Given the description of an element on the screen output the (x, y) to click on. 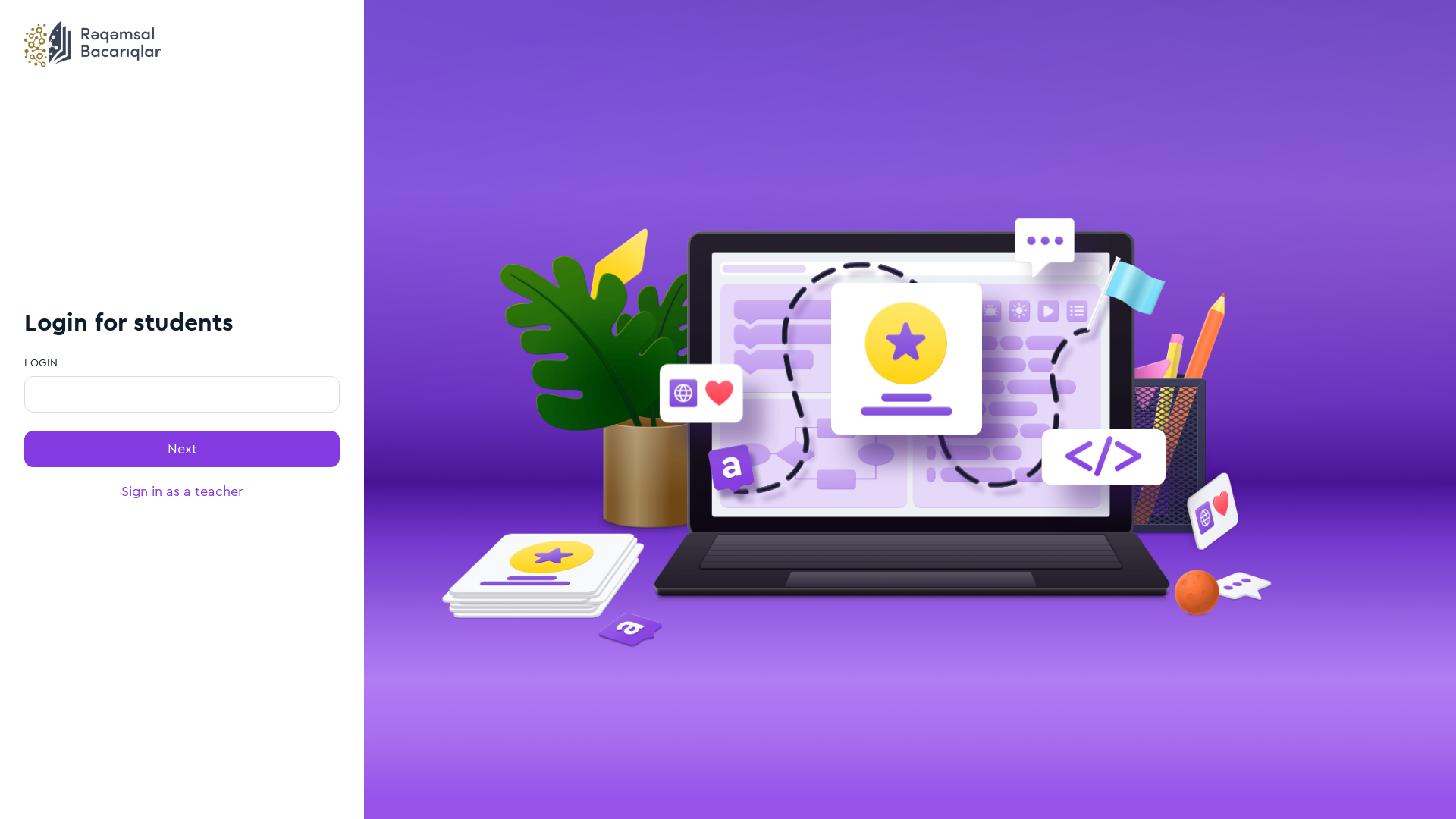
Next Element type: text (181, 448)
Sign in as a teacher Element type: text (181, 491)
